Given the description of an element on the screen output the (x, y) to click on. 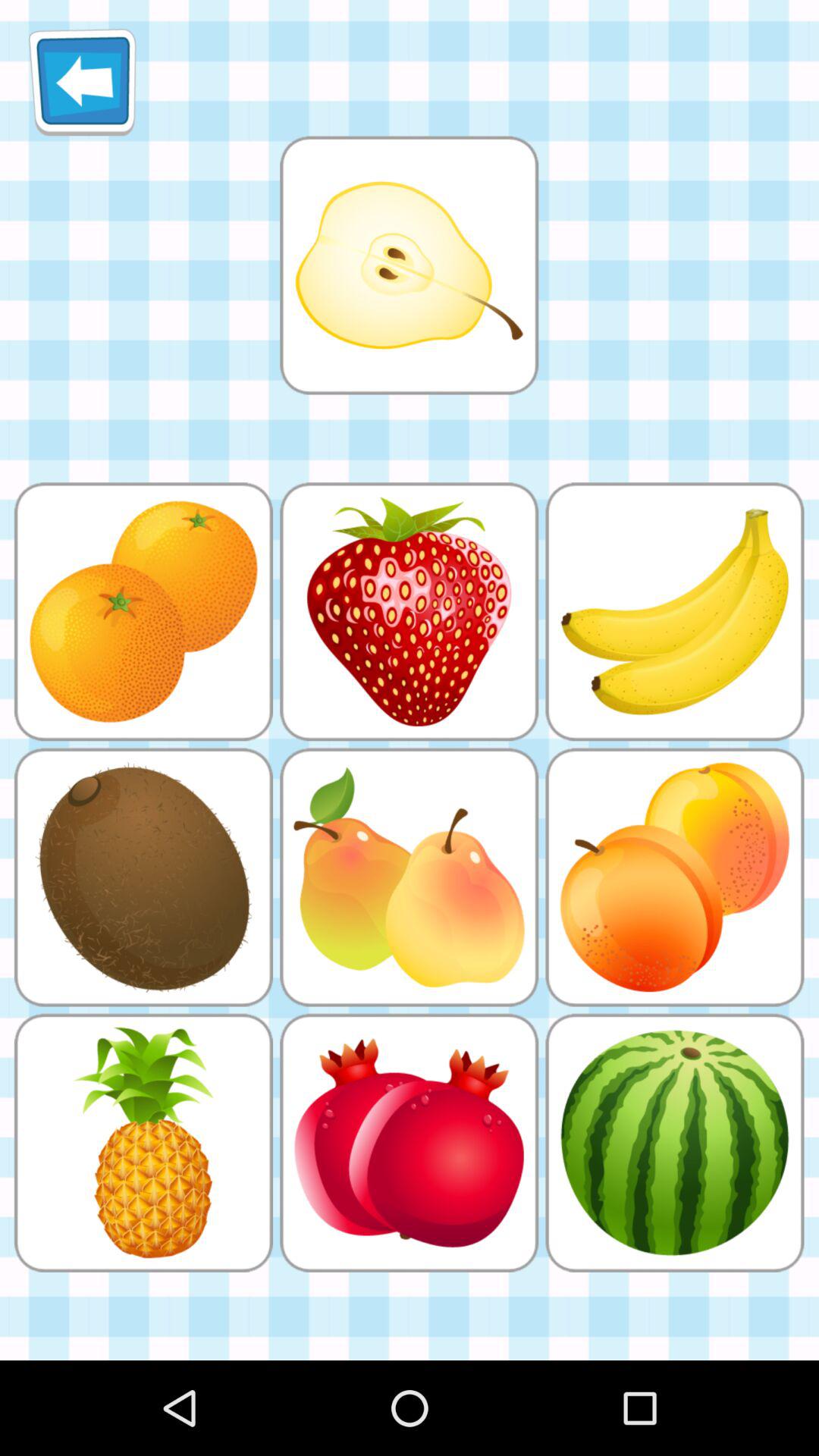
selection choice (409, 265)
